Given the description of an element on the screen output the (x, y) to click on. 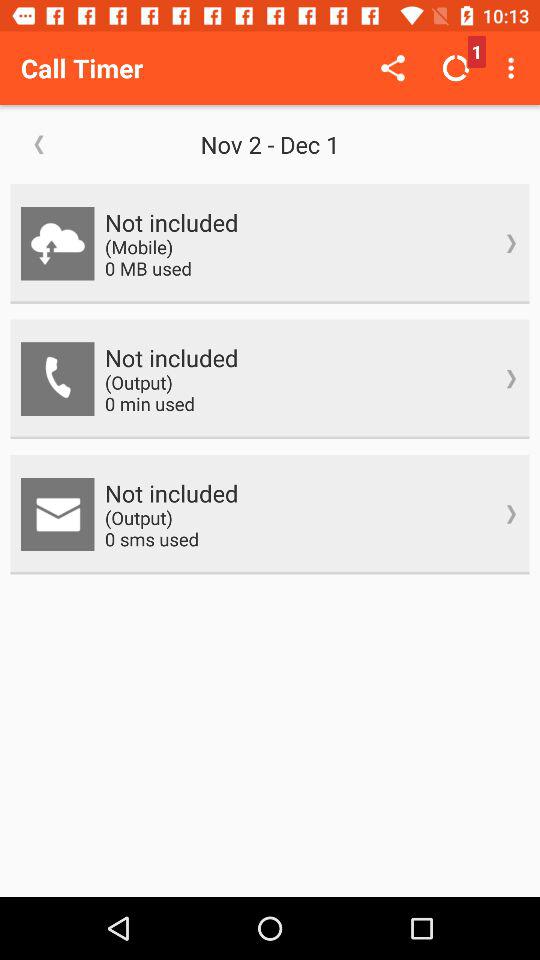
press item next to the nov 2 dec item (39, 144)
